Given the description of an element on the screen output the (x, y) to click on. 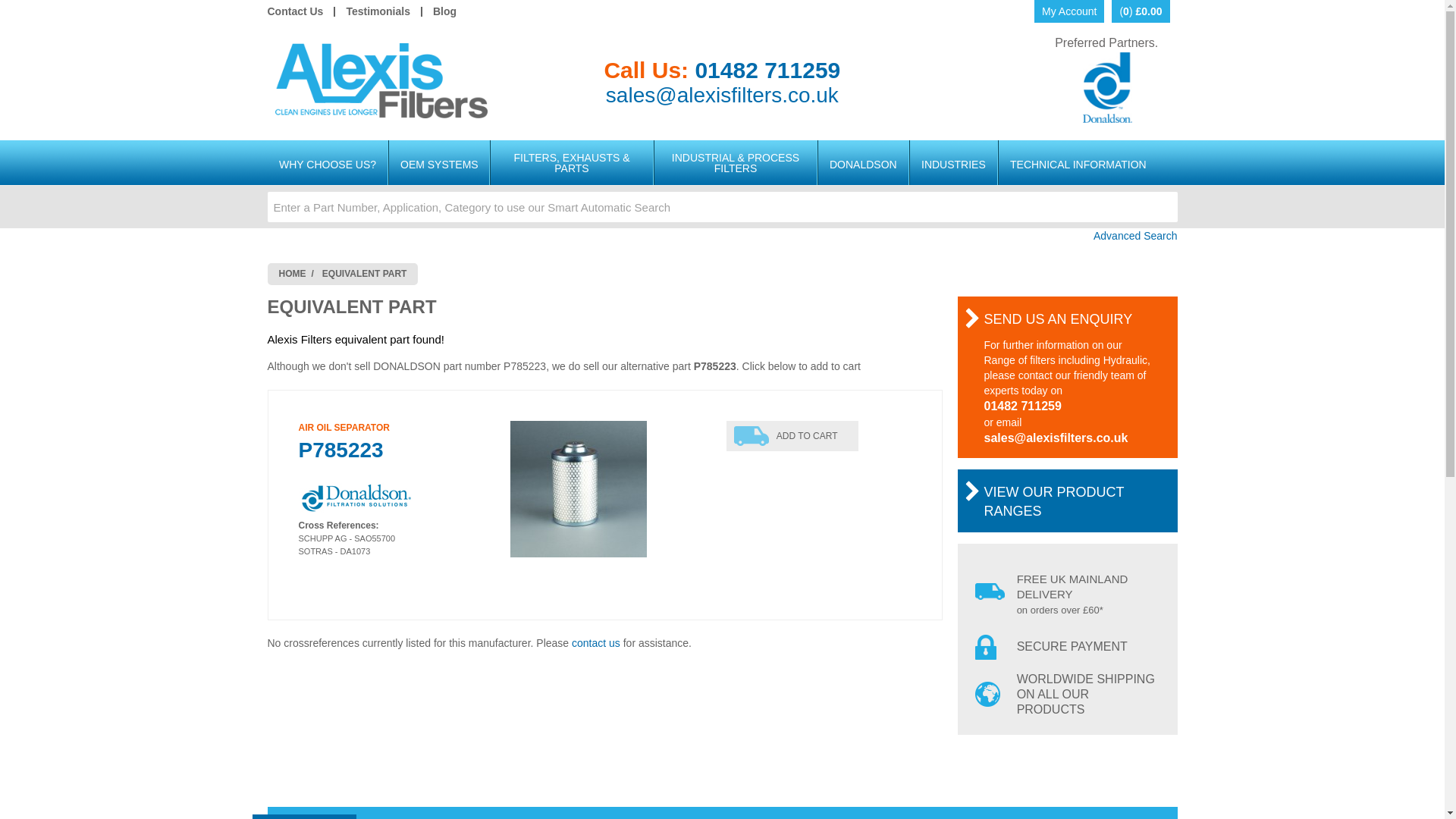
Testimonials (377, 10)
Blog (444, 10)
Go to Home Page (292, 273)
Contact Us (299, 10)
WHY CHOOSE US? (326, 163)
INDUSTRIES (953, 163)
TECHNICAL INFORMATION (1077, 163)
DONALDSON (863, 163)
HOME (292, 273)
Advanced Search (721, 236)
OEM SYSTEMS (438, 163)
My Account (1068, 11)
01482 711259 (767, 69)
Send us an enquiry (1058, 319)
